Given the description of an element on the screen output the (x, y) to click on. 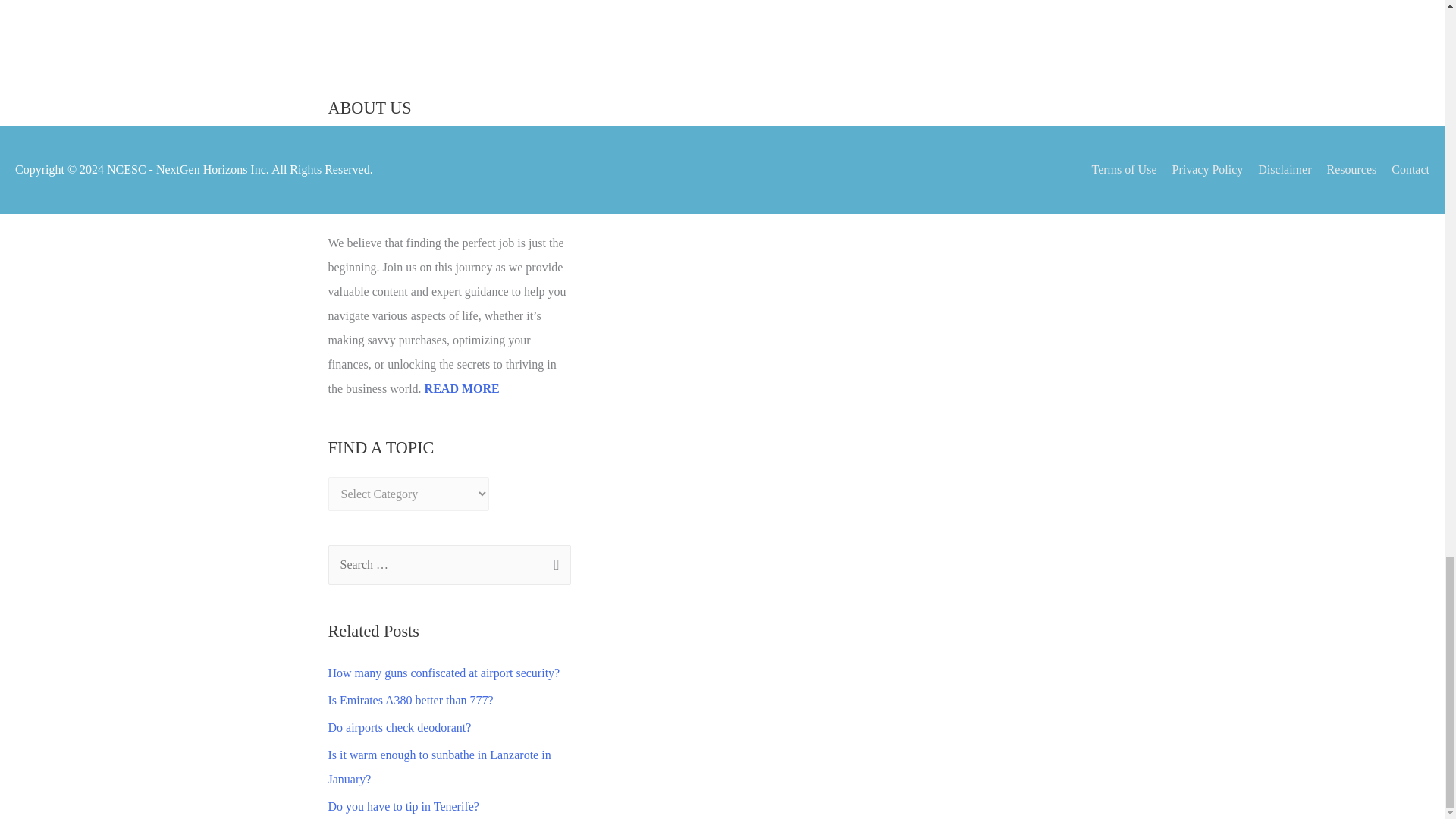
Search (553, 566)
Search (553, 566)
